Given the description of an element on the screen output the (x, y) to click on. 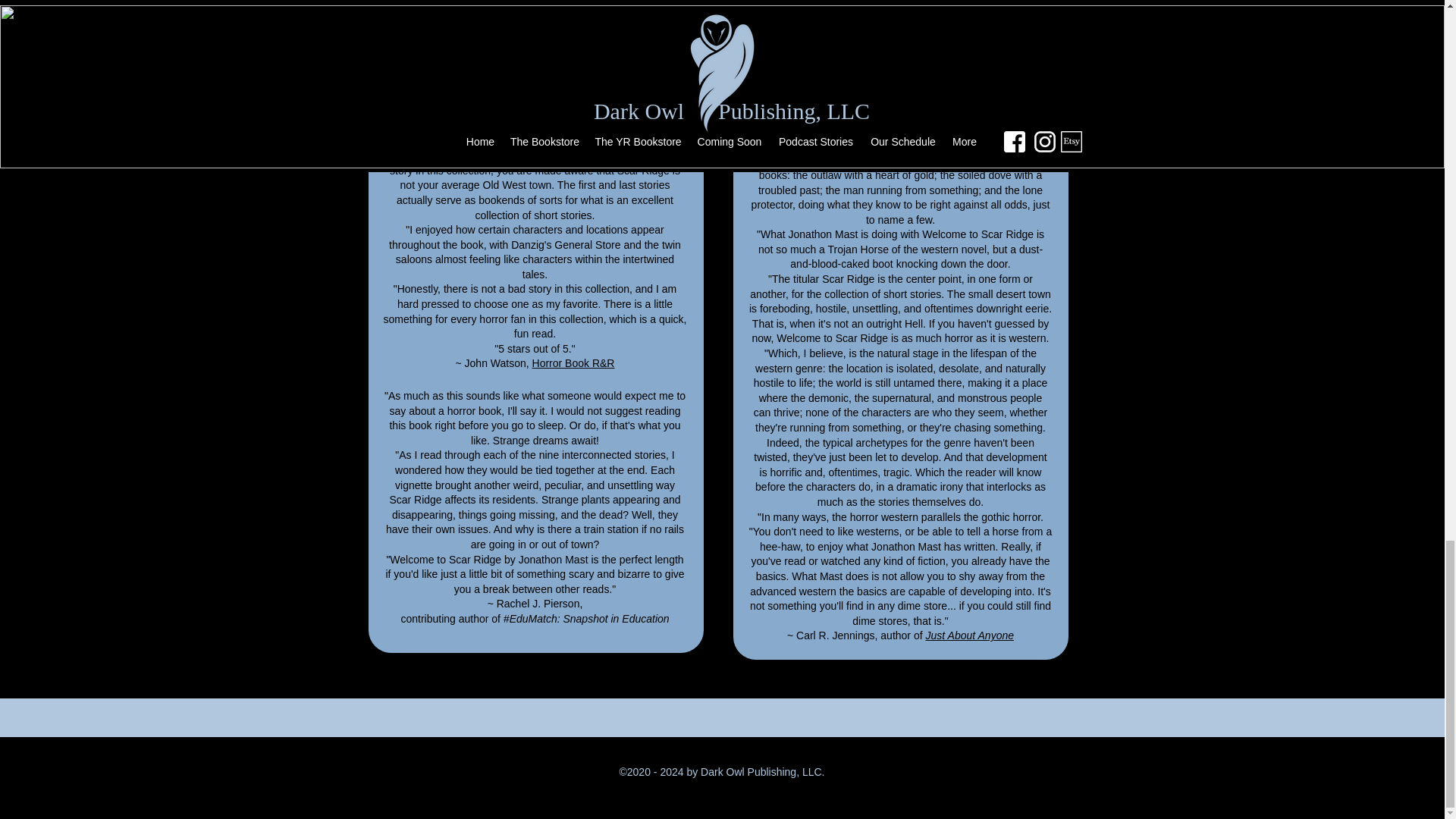
Just About Anyone (968, 635)
